Given the description of an element on the screen output the (x, y) to click on. 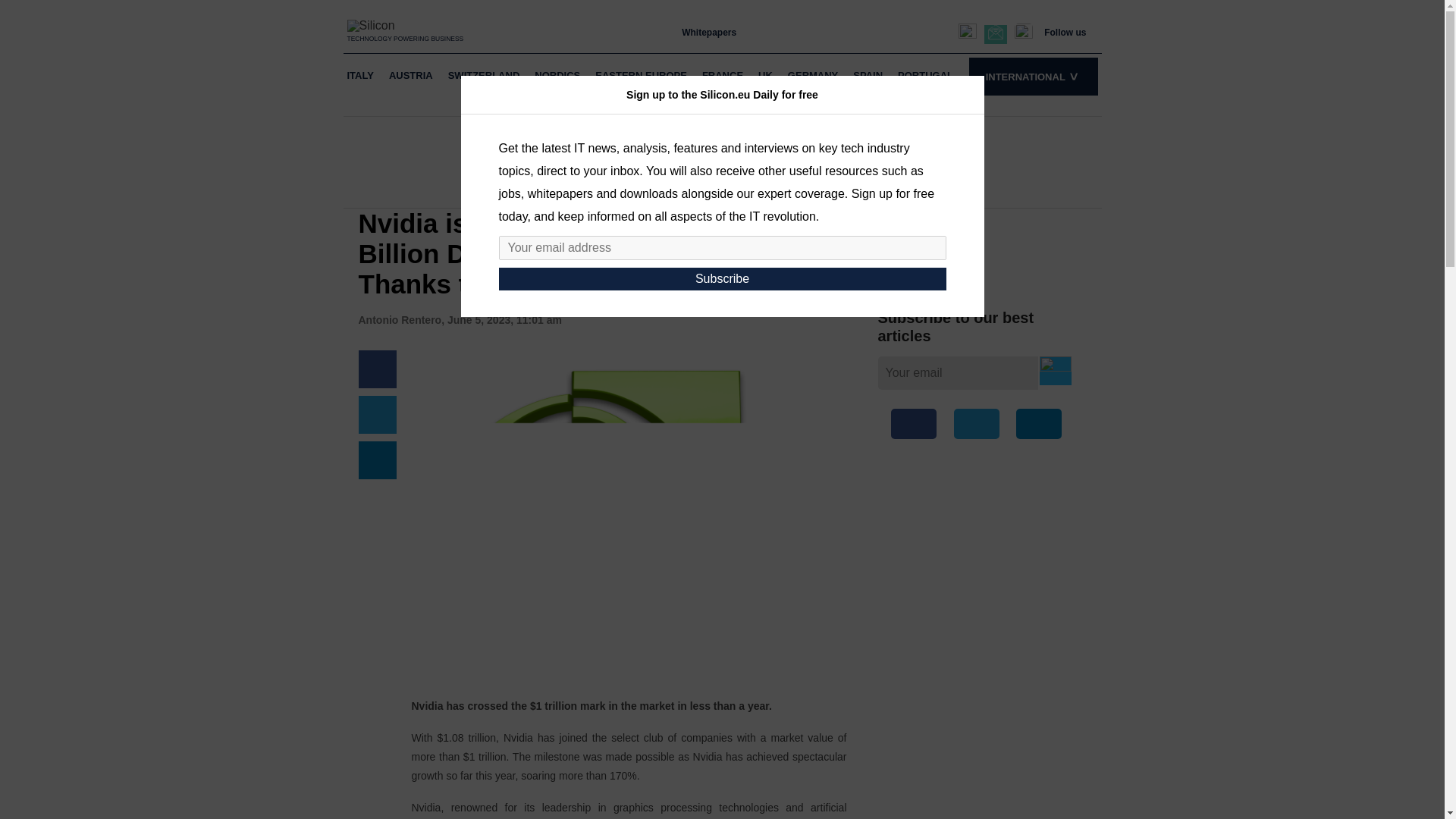
NORDICS (557, 76)
Follow us (1064, 32)
UK (765, 76)
INTERNATIONAL (1033, 76)
GERMANY (812, 76)
Whitepapers (708, 32)
ITALY (359, 76)
SWITZERLAND (484, 76)
PORTUGAL (924, 76)
SPAIN (867, 76)
AUSTRIA (410, 76)
Silicon (405, 24)
EASTERN EUROPE (640, 76)
FRANCE (722, 76)
